Given the description of an element on the screen output the (x, y) to click on. 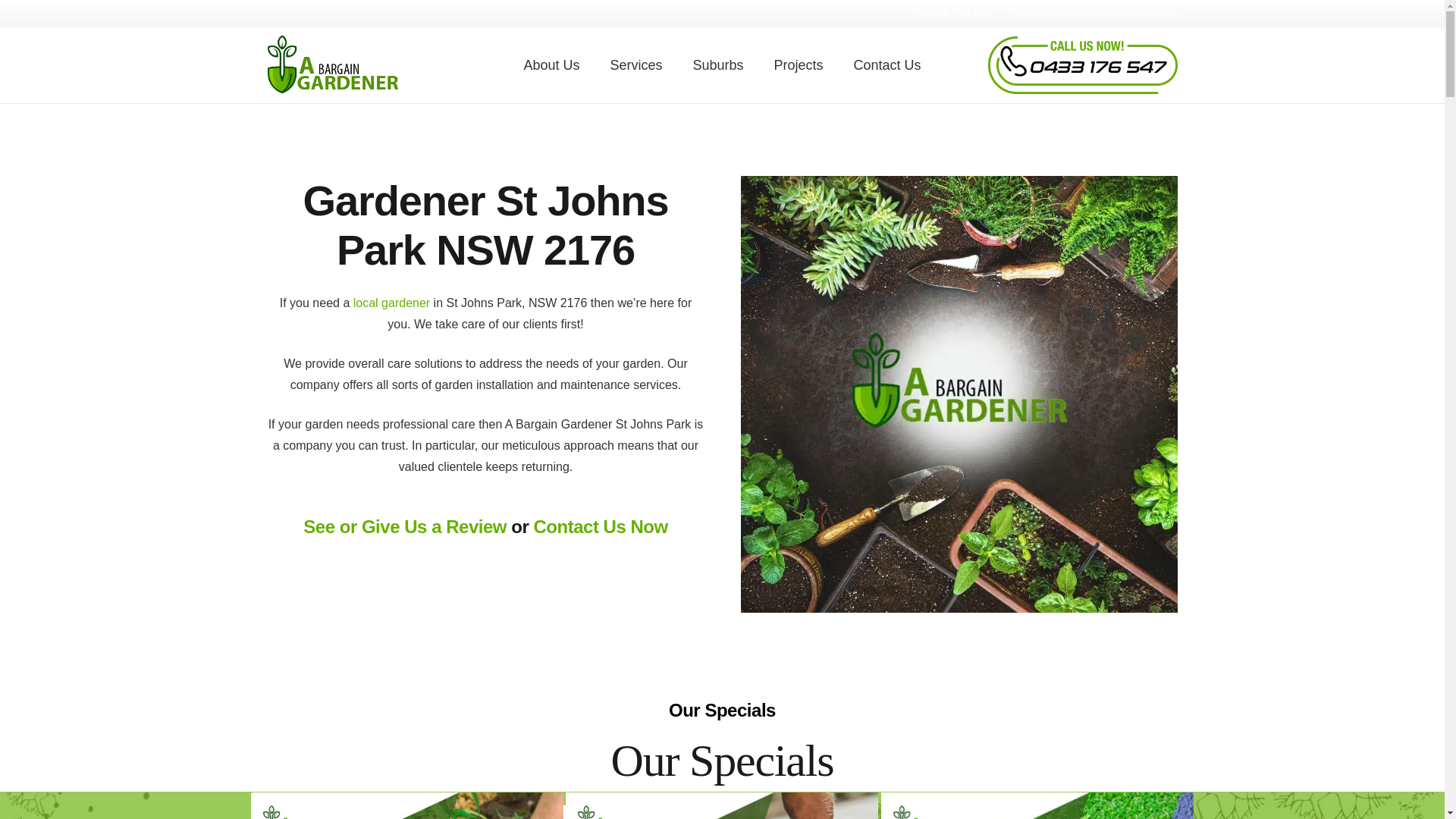
Suburbs (717, 65)
local gardener (391, 302)
Projects (798, 65)
About Us (551, 65)
See or Give Us a Review (404, 526)
Contact Us (887, 65)
Services (635, 65)
Contact Us Now (599, 526)
